Given the description of an element on the screen output the (x, y) to click on. 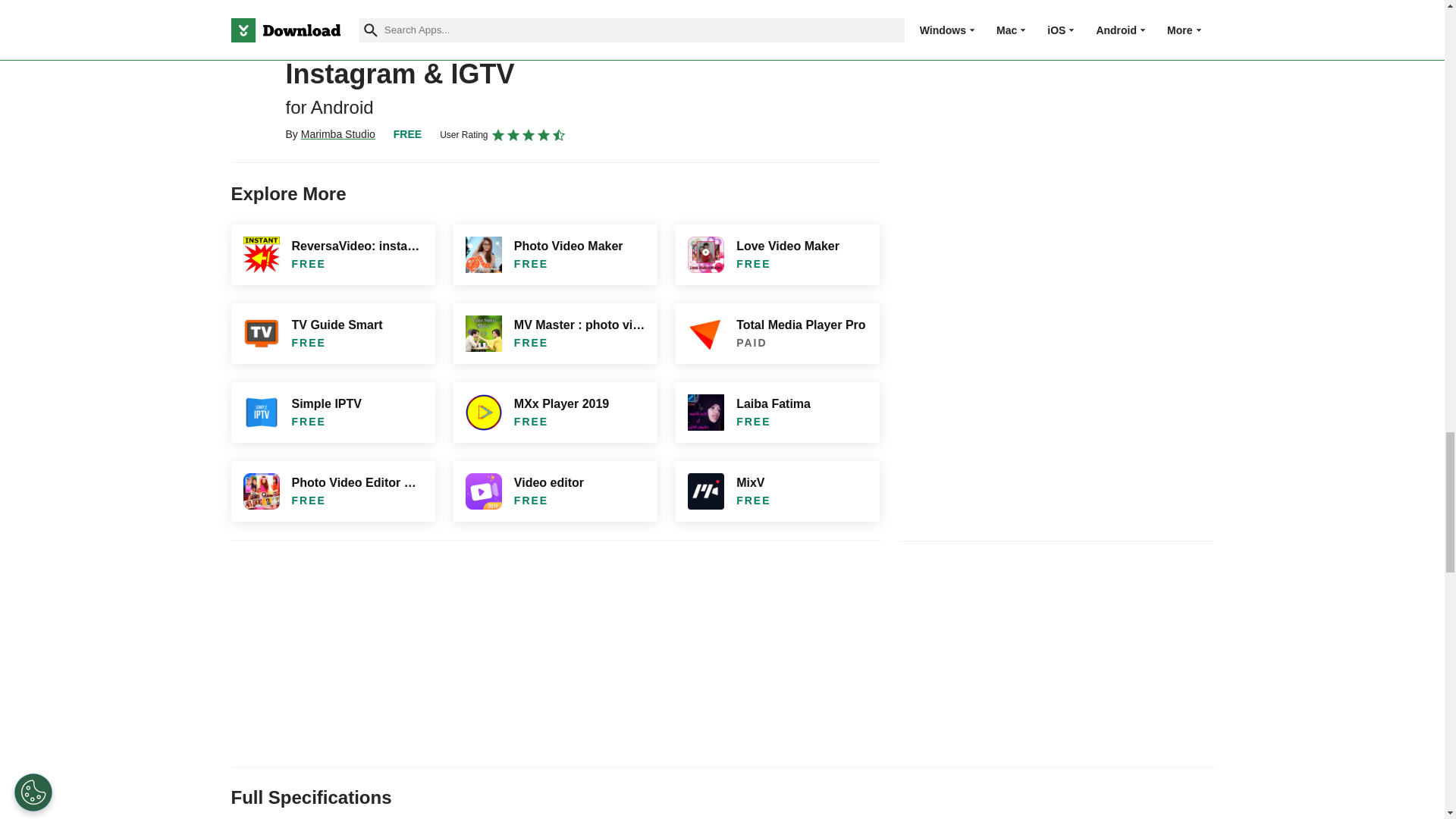
Photo Video Editor With Music (331, 491)
Total Media Player Pro (777, 333)
TV Guide Smart (331, 333)
Laiba Fatima (777, 412)
ReversaVideo: instant reverse video playback (331, 254)
Get it on Google Play (750, 14)
MV Master : photo video maker for mv master (555, 333)
Love Video Maker (777, 254)
Simple IPTV (331, 412)
Video editor (555, 491)
MXx Player 2019 (555, 412)
Photo Video Maker (555, 254)
MixV (777, 491)
